Given the description of an element on the screen output the (x, y) to click on. 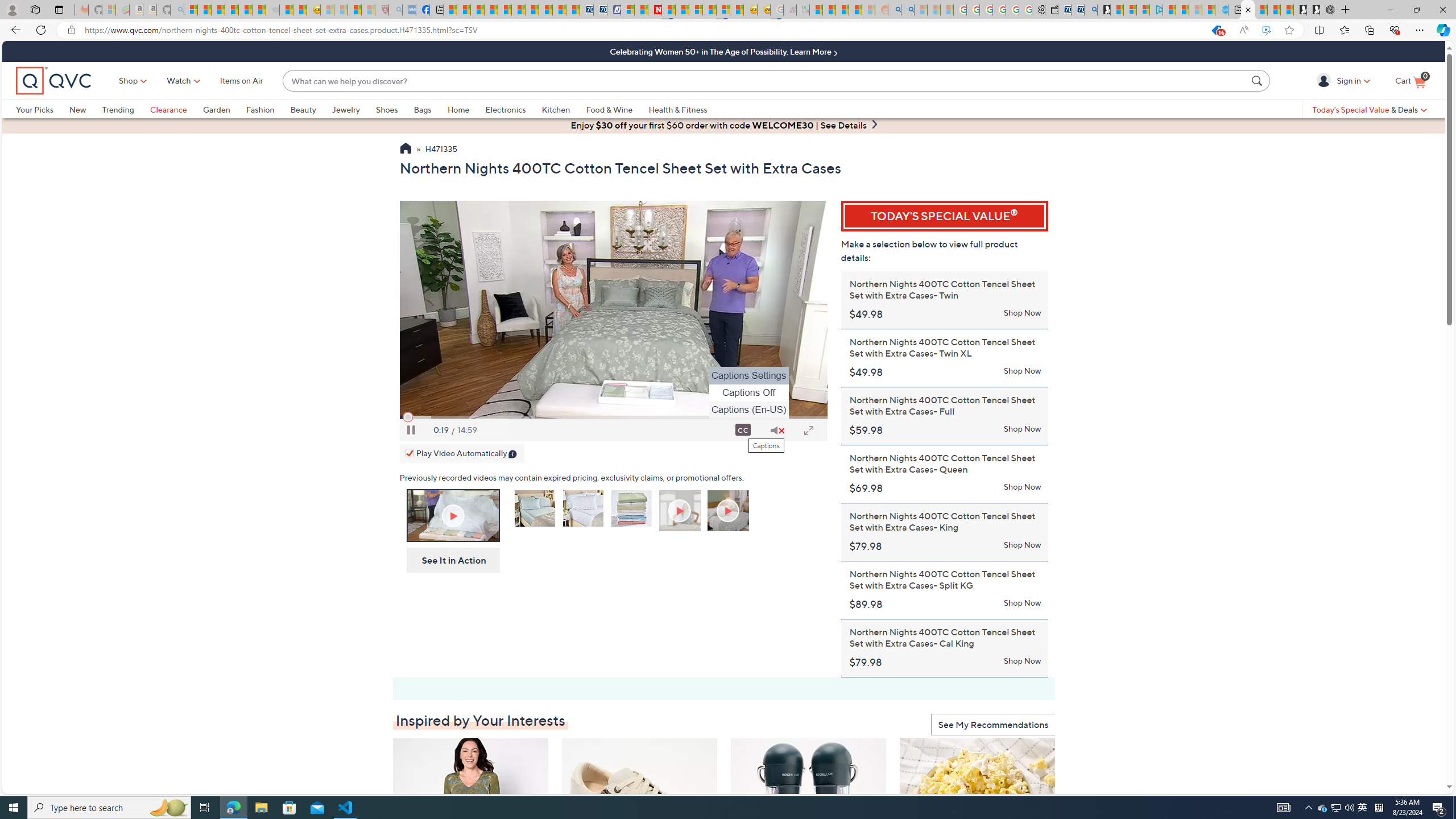
Product Features (680, 511)
Food & Wine (609, 109)
Your Picks (34, 109)
Search Submit (1258, 80)
Clearance (175, 109)
Fashion (260, 109)
New (84, 109)
